Given the description of an element on the screen output the (x, y) to click on. 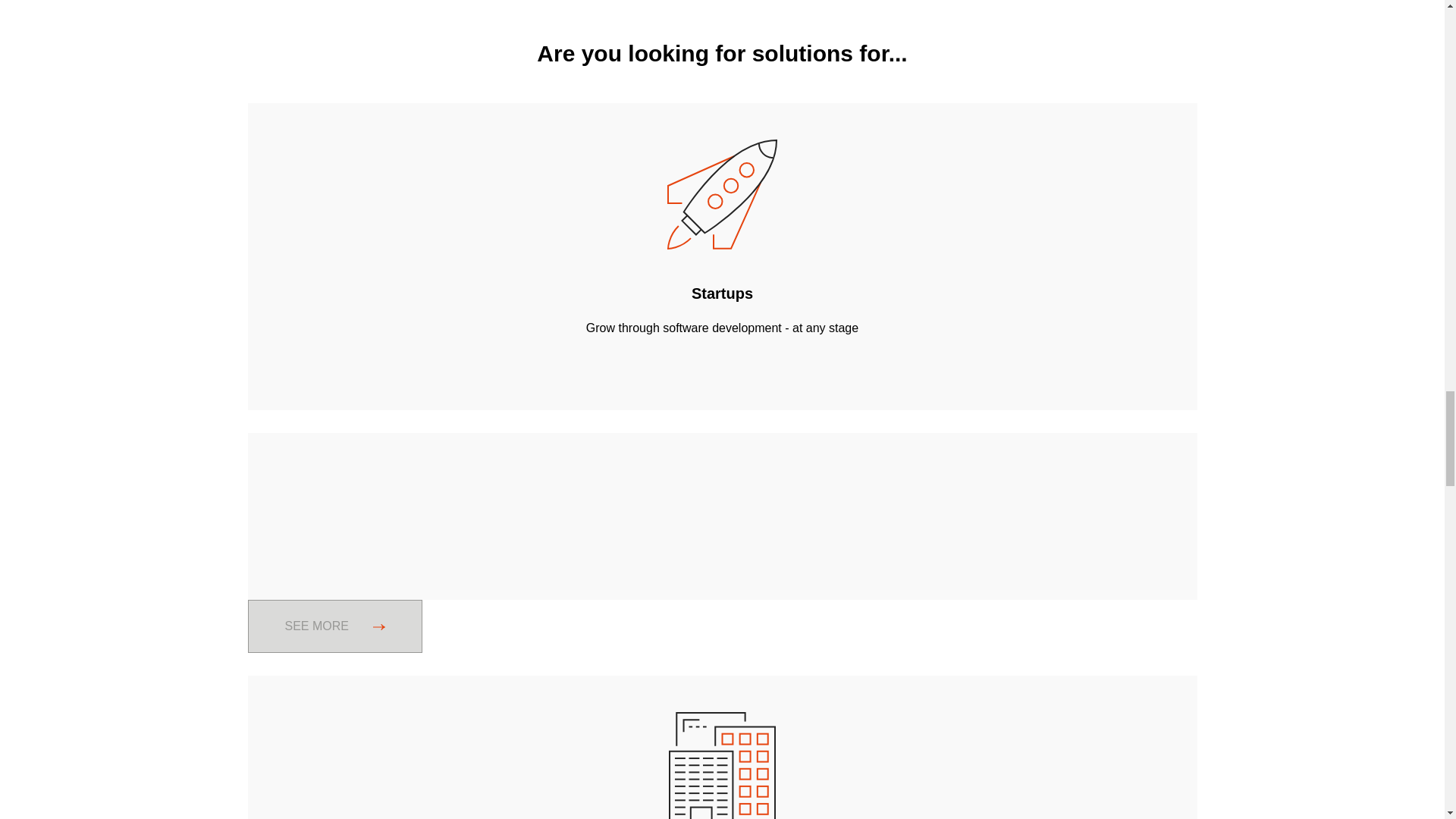
SEE MORE (721, 625)
